Given the description of an element on the screen output the (x, y) to click on. 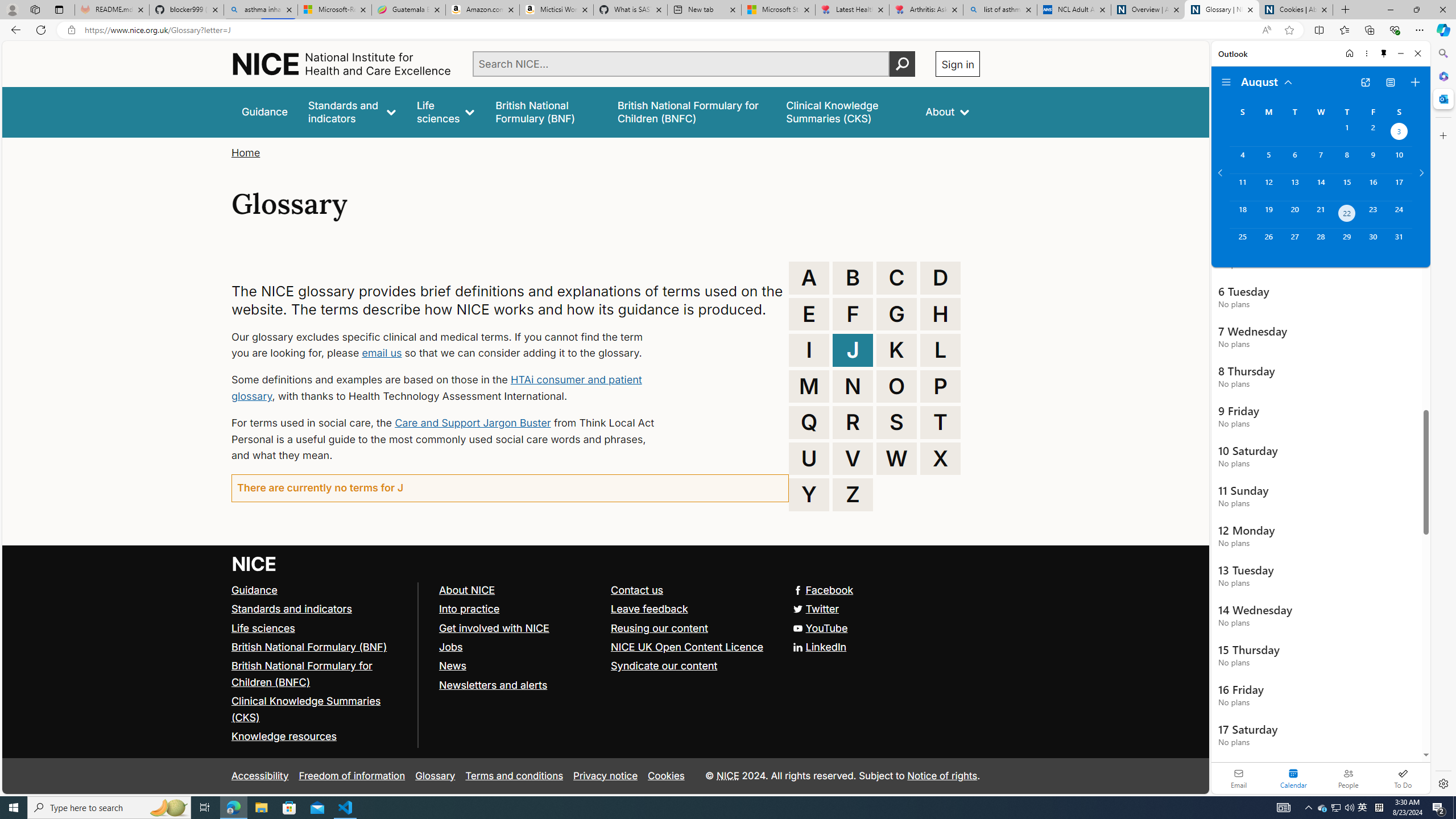
Z (852, 494)
K (896, 350)
N (852, 385)
Syndicate our content (692, 665)
Q (809, 422)
H (940, 313)
Arthritis: Ask Health Professionals (925, 9)
LinkedIn (820, 646)
People (1347, 777)
T (940, 422)
Friday, August 30, 2024.  (1372, 241)
list of asthma inhalers uk - Search (1000, 9)
